Given the description of an element on the screen output the (x, y) to click on. 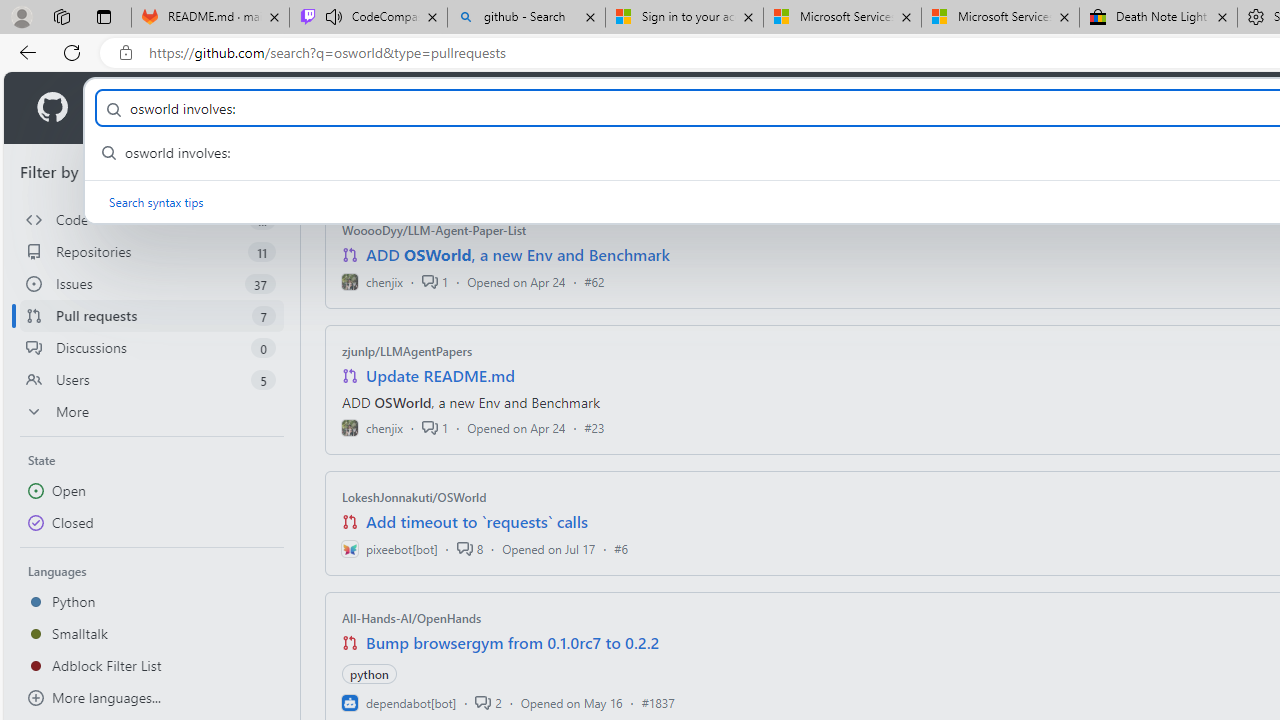
1 (435, 427)
Pricing (649, 107)
LokeshJonnakuti/OSWorld (413, 497)
Sign in to your account (683, 17)
Resources (330, 107)
#62 (594, 281)
